Given the description of an element on the screen output the (x, y) to click on. 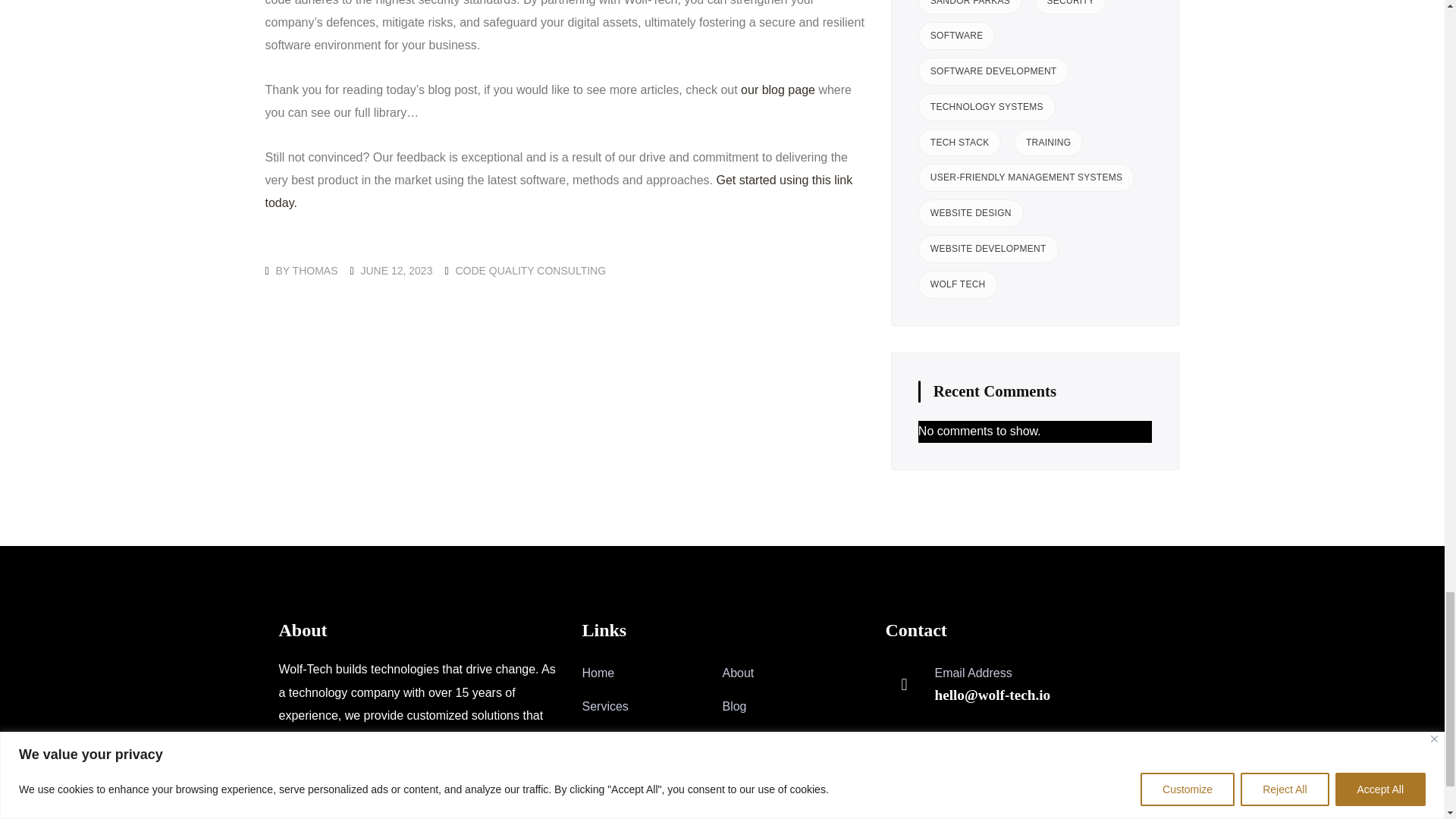
Get started using this link today. (558, 191)
JUNE 12, 2023 (395, 270)
CODE QUALITY CONSULTING (529, 270)
our blog page (778, 89)
THOMAS (314, 270)
